Given the description of an element on the screen output the (x, y) to click on. 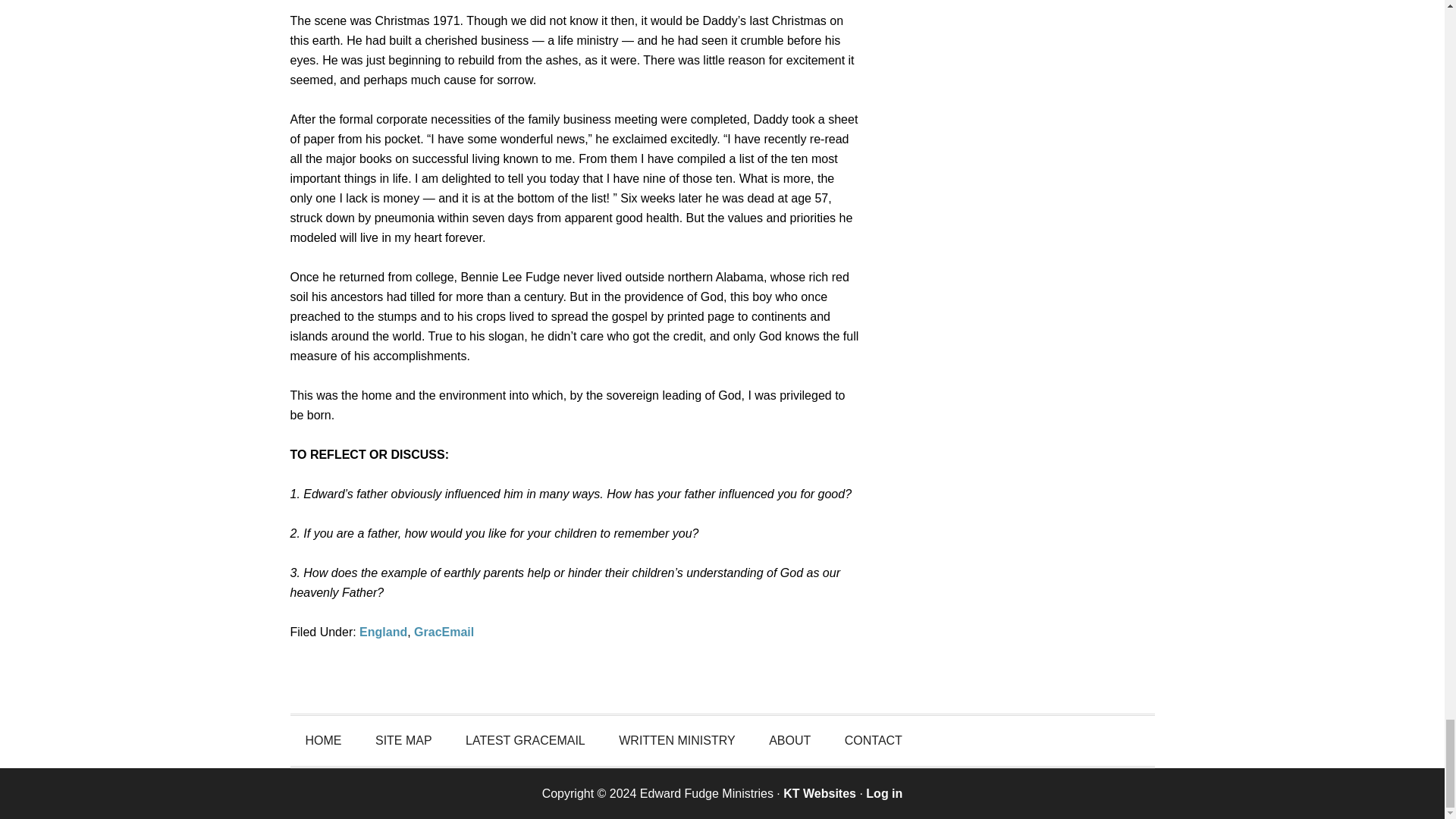
GracEmail (443, 631)
ABOUT (789, 740)
SITE MAP (402, 740)
HOME (322, 740)
England (383, 631)
KT Websites (819, 793)
Log in (884, 793)
LATEST GRACEMAIL (524, 740)
WRITTEN MINISTRY (676, 740)
CONTACT (873, 740)
